Given the description of an element on the screen output the (x, y) to click on. 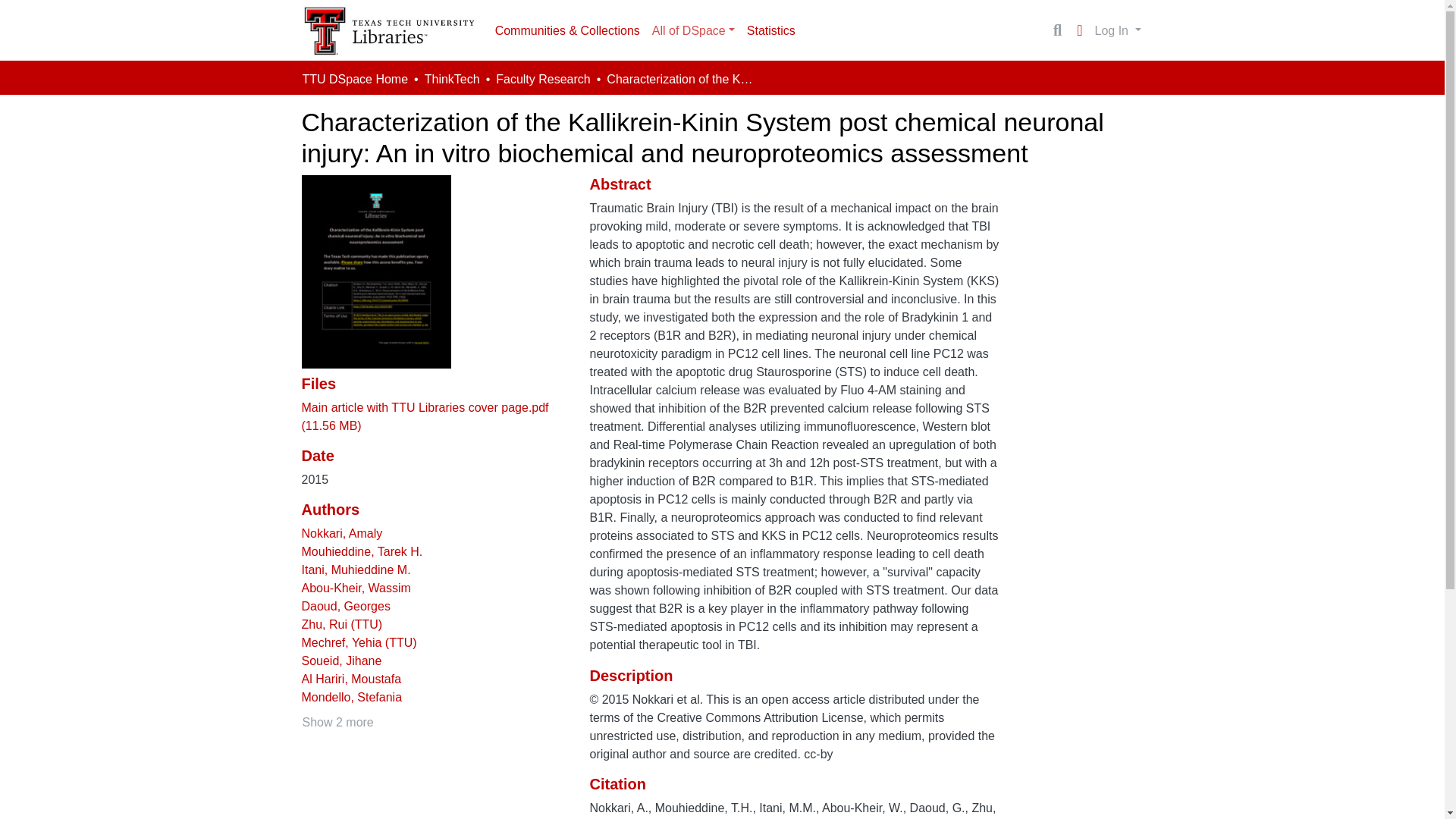
Mondello, Stefania (352, 697)
Al Hariri, Moustafa (351, 678)
TTU DSpace Home (354, 79)
Mouhieddine, Tarek H. (362, 551)
Language switch (1079, 30)
Log In (1117, 30)
Soueid, Jihane (341, 660)
Statistics (771, 30)
All of DSpace (693, 30)
Faculty Research (543, 79)
